Given the description of an element on the screen output the (x, y) to click on. 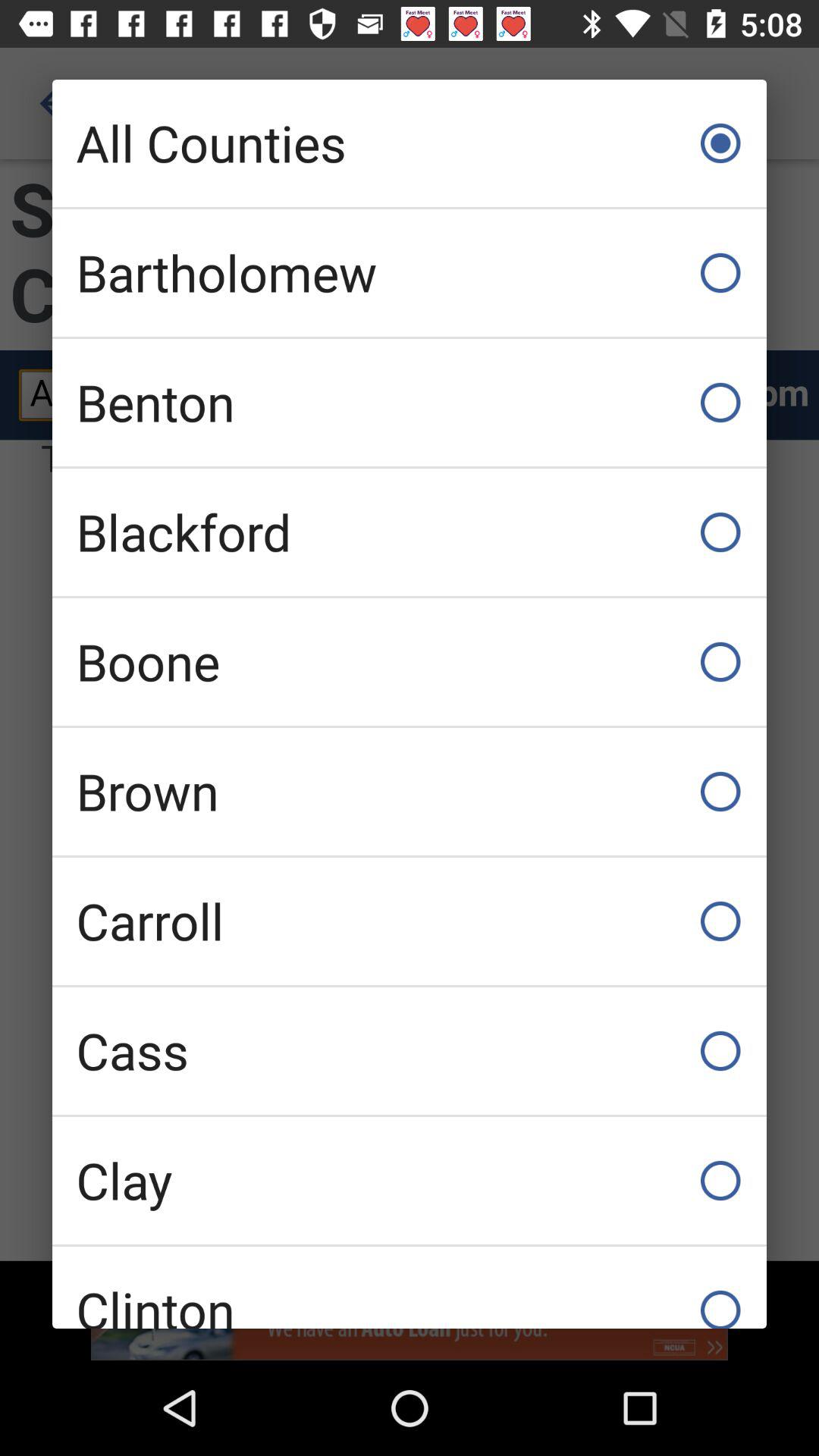
turn on the icon below the blackford (409, 661)
